Given the description of an element on the screen output the (x, y) to click on. 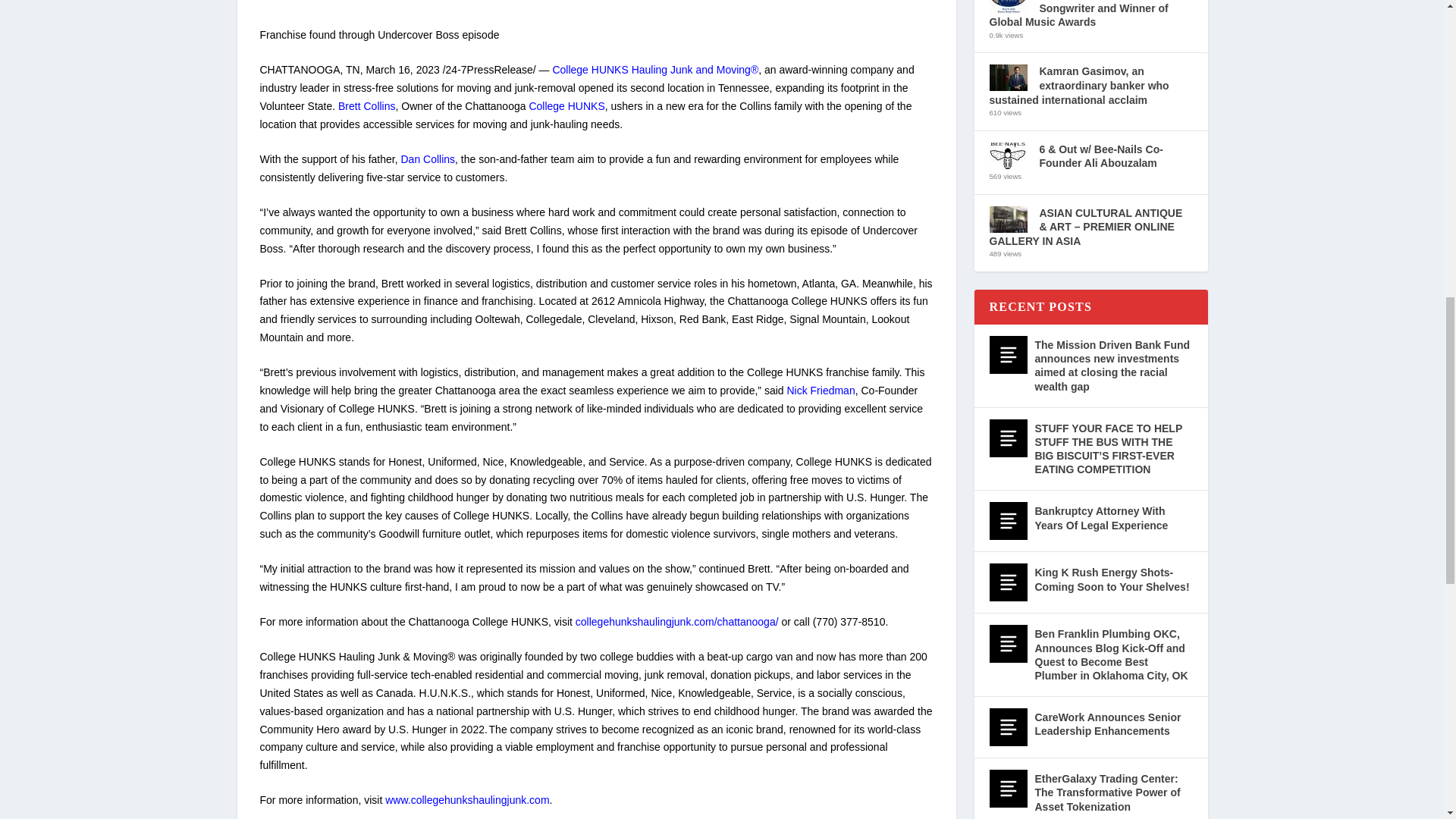
Dan Collins (427, 159)
www.collegehunkshaulingjunk.com (466, 799)
College HUNKS (566, 105)
Brett Collins (365, 105)
Nick Friedman (820, 390)
